Given the description of an element on the screen output the (x, y) to click on. 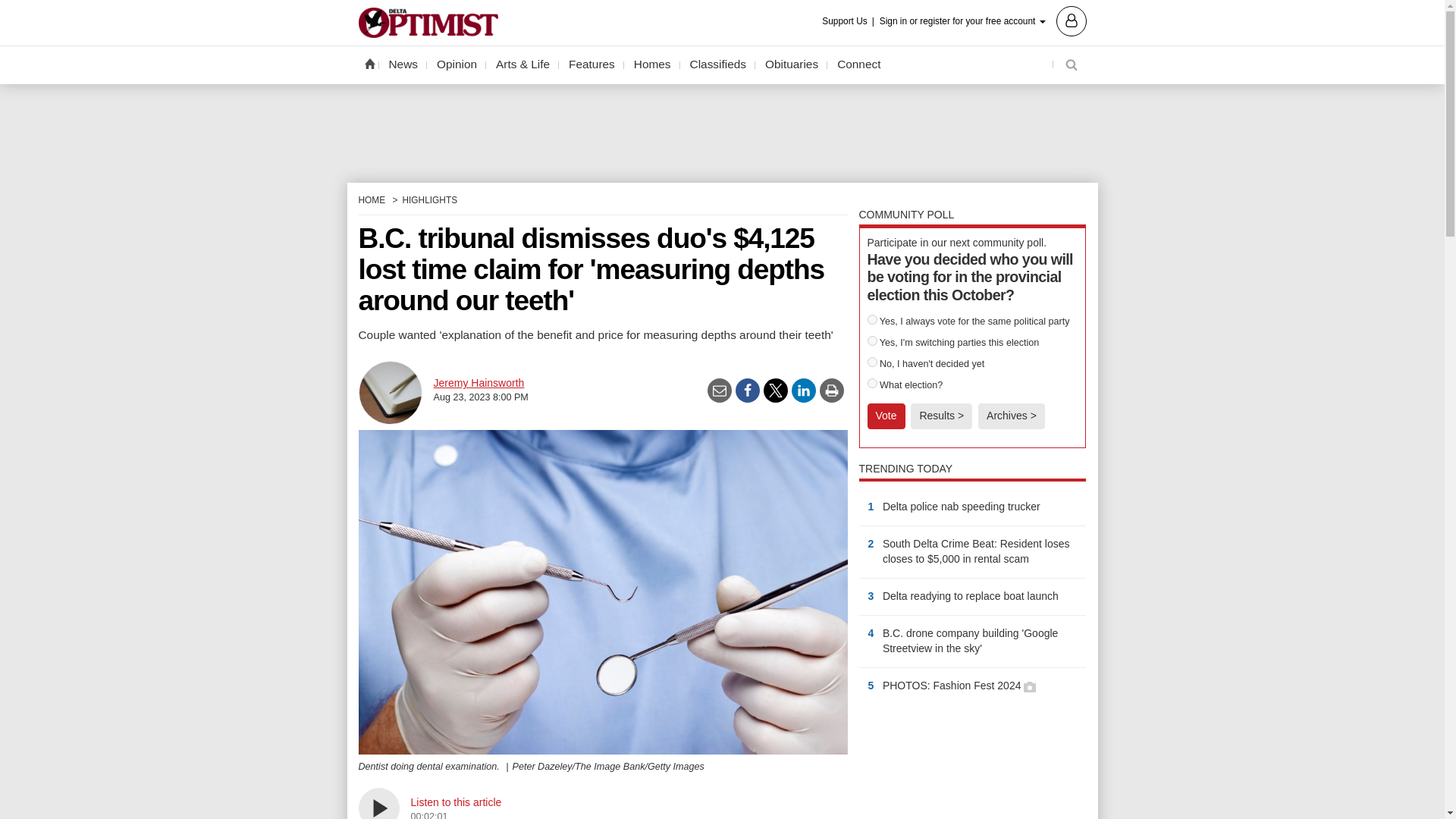
Opinion (456, 64)
Sign in or register for your free account (982, 20)
Home (368, 63)
123322 (872, 340)
123321 (872, 319)
123324 (872, 383)
Support Us (849, 21)
News (403, 64)
Has a gallery (1029, 686)
123323 (872, 361)
